Given the description of an element on the screen output the (x, y) to click on. 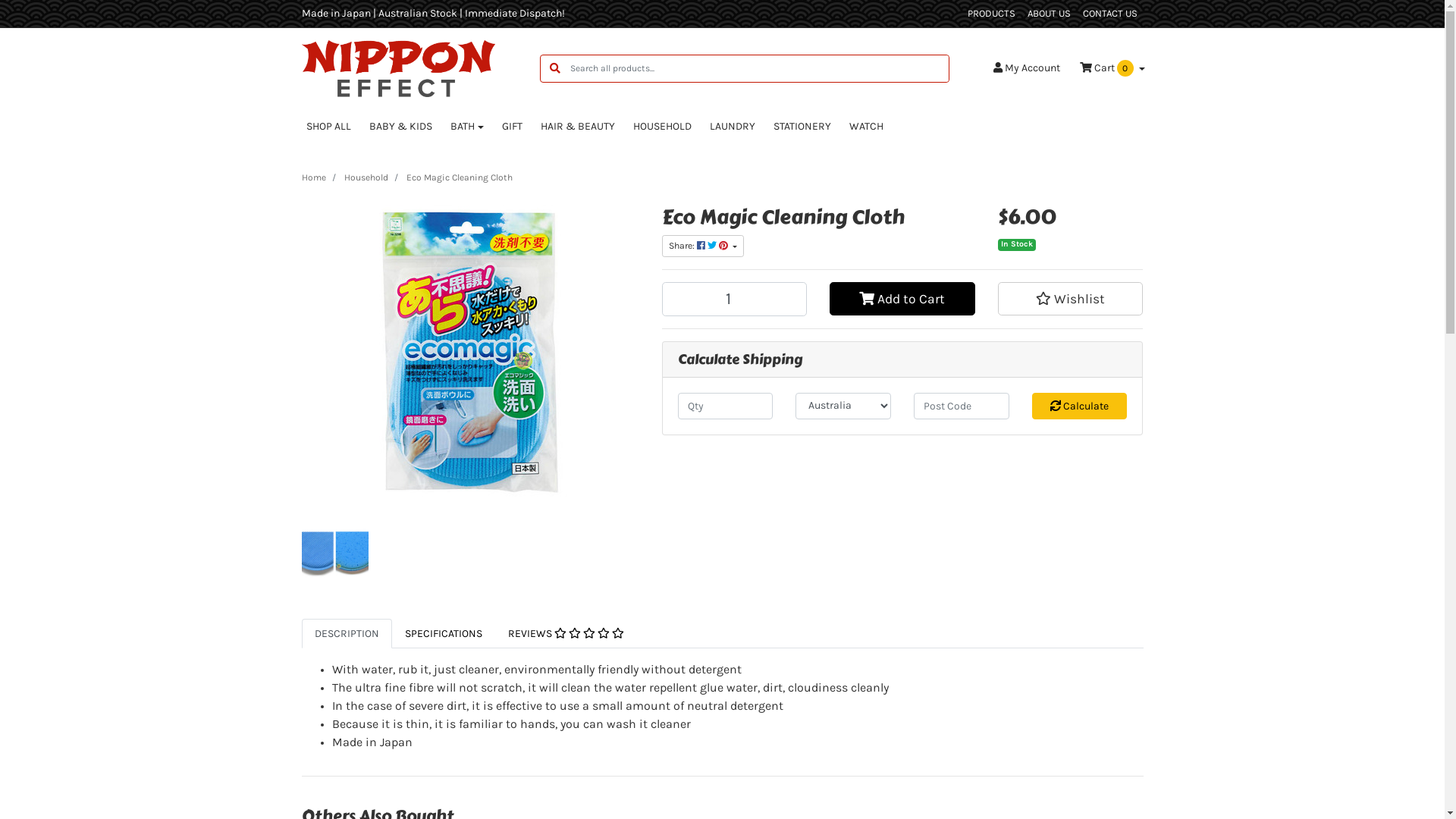
BATH Element type: text (466, 126)
HOUSEHOLD Element type: text (662, 126)
My Account Element type: text (1026, 67)
ABOUT US Element type: text (1048, 13)
Eco Magic Cleaning Cloth Element type: text (459, 177)
Share: Element type: text (702, 245)
Household Element type: text (366, 177)
SPECIFICATIONS Element type: text (442, 633)
Nippon Effect Pty Ltd Element type: hover (398, 67)
BABY & KIDS Element type: text (400, 126)
WATCH Element type: text (866, 126)
STATIONERY Element type: text (802, 126)
Search Element type: text (554, 68)
HAIR & BEAUTY Element type: text (577, 126)
DESCRIPTION Element type: text (346, 633)
REVIEWS Element type: text (565, 633)
Home Element type: text (313, 177)
SHOP ALL Element type: text (328, 126)
Cart 0 Element type: text (1112, 67)
CONTACT US Element type: text (1109, 13)
Wishlist Element type: text (1070, 298)
LAUNDRY Element type: text (732, 126)
PRODUCTS Element type: text (991, 13)
GIFT Element type: text (511, 126)
Calculate Element type: text (1079, 405)
Add to Cart Element type: text (902, 298)
